Given the description of an element on the screen output the (x, y) to click on. 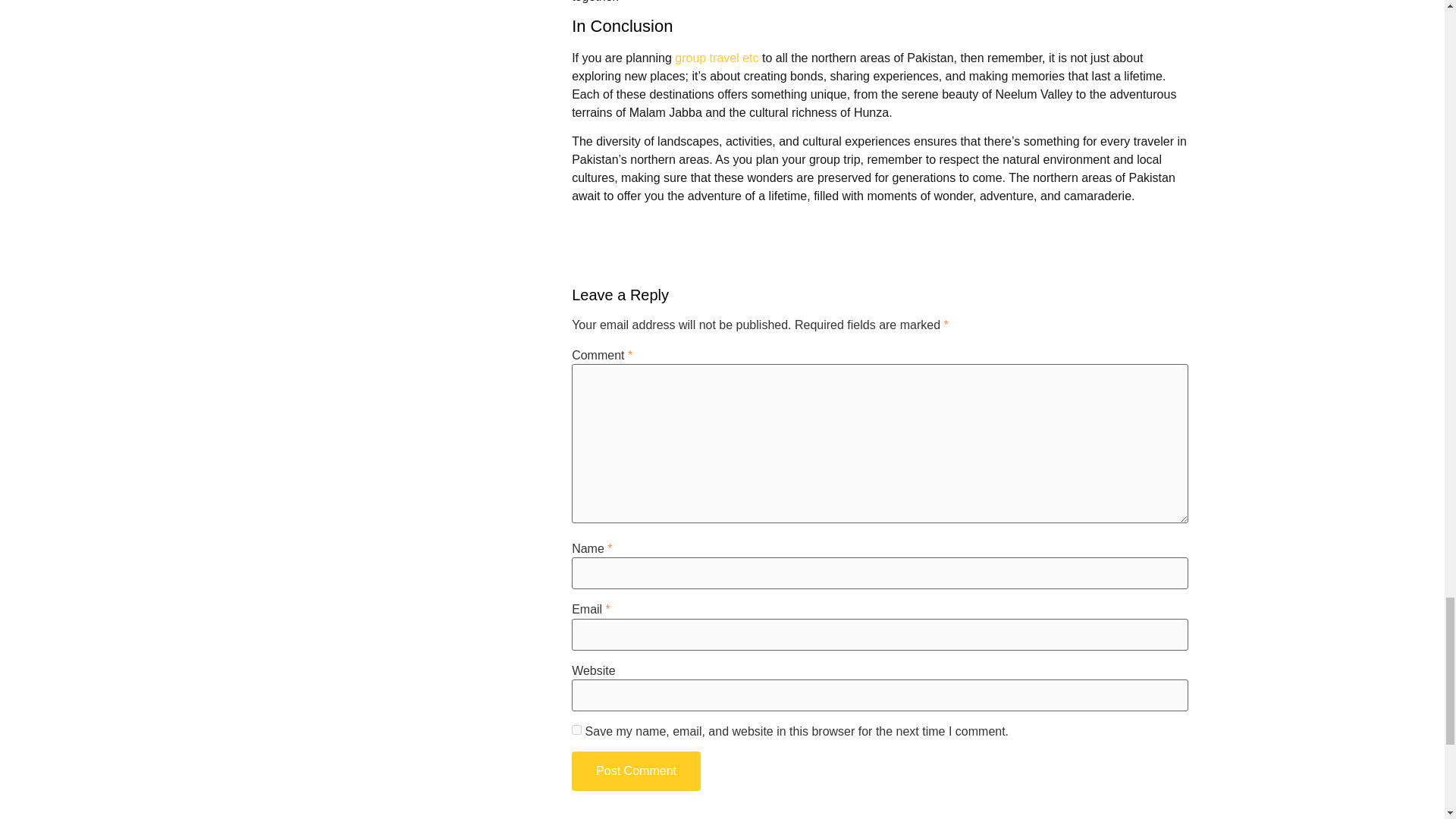
group travel etc (716, 57)
Post Comment (636, 771)
yes (576, 729)
